Given the description of an element on the screen output the (x, y) to click on. 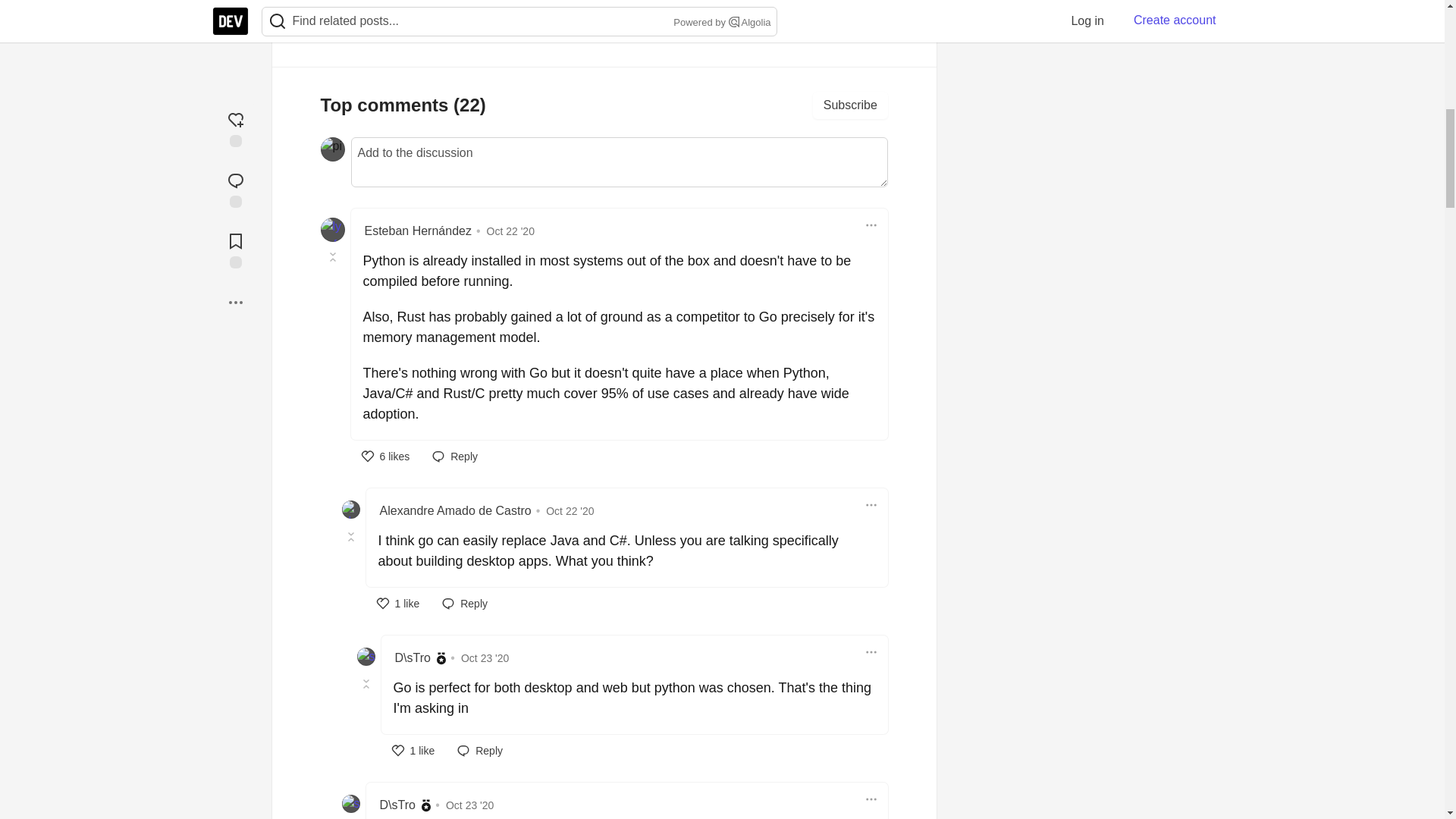
Dropdown menu (870, 651)
Dropdown menu (870, 505)
Dropdown menu (870, 225)
